Given the description of an element on the screen output the (x, y) to click on. 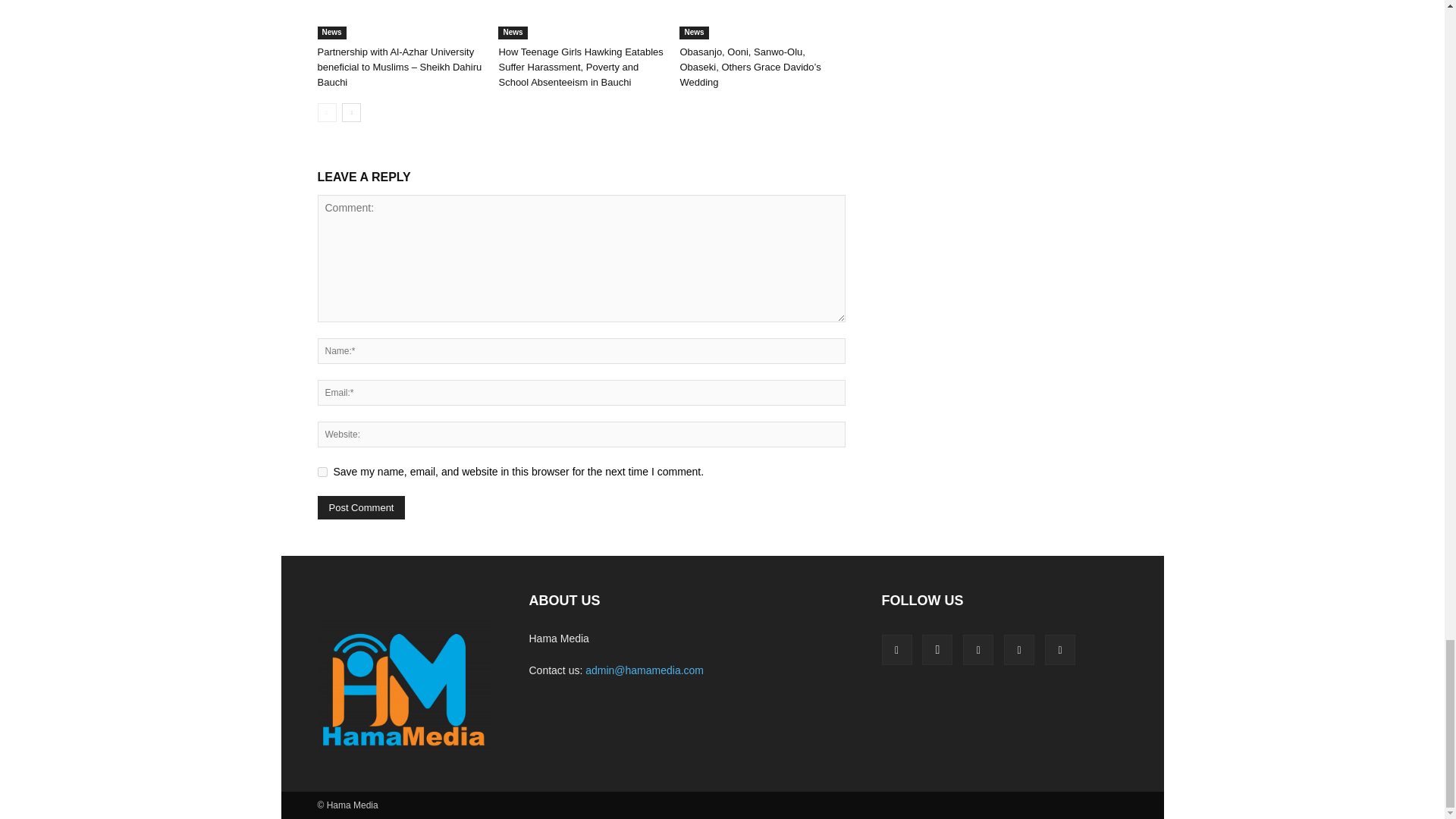
Post Comment (360, 507)
yes (321, 471)
